Given the description of an element on the screen output the (x, y) to click on. 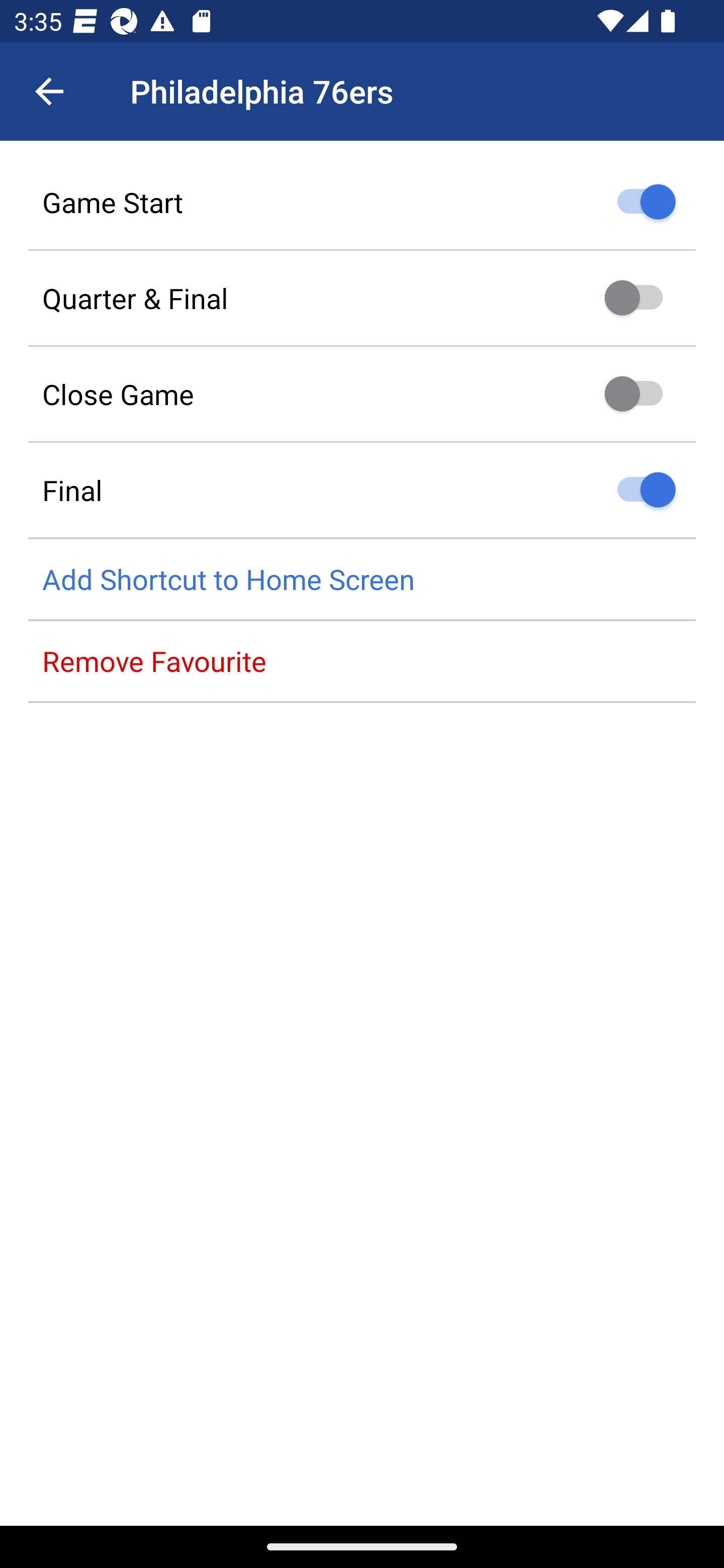
Navigate up (49, 91)
Add Shortcut to Home Screen (362, 579)
Remove Favourite (362, 661)
